Given the description of an element on the screen output the (x, y) to click on. 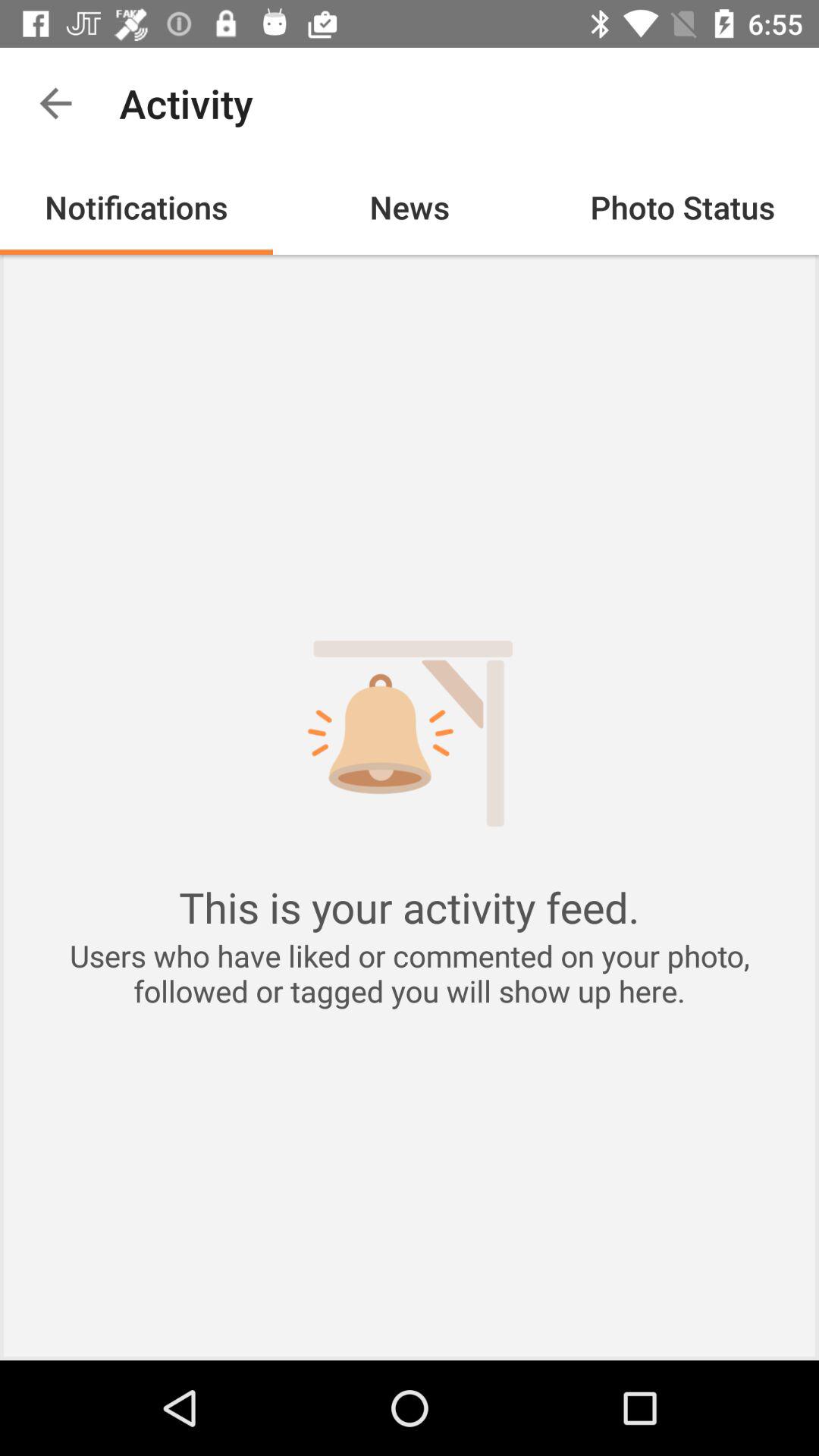
tap icon next to the activity item (55, 103)
